Given the description of an element on the screen output the (x, y) to click on. 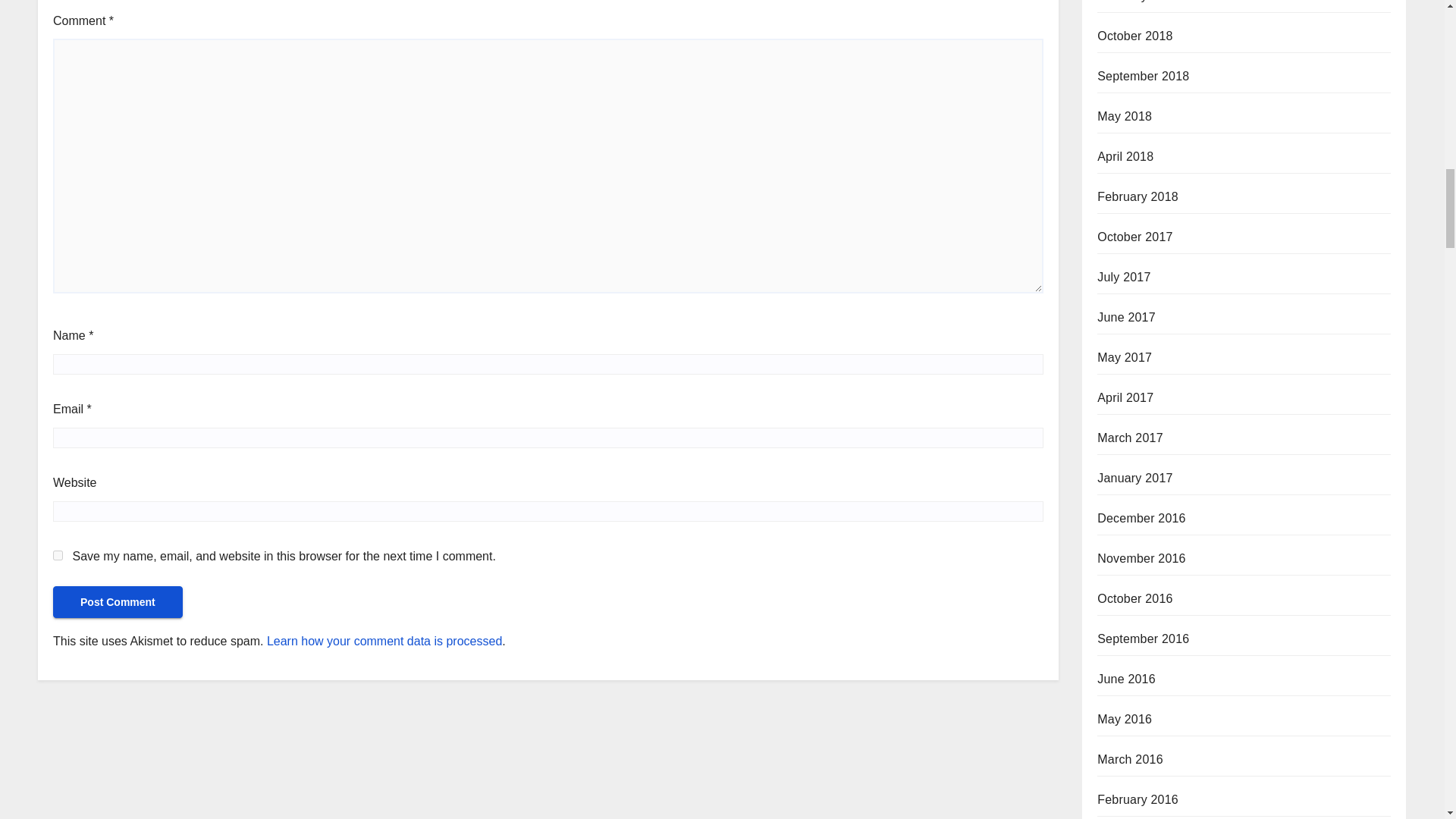
yes (57, 555)
Post Comment (117, 602)
